Given the description of an element on the screen output the (x, y) to click on. 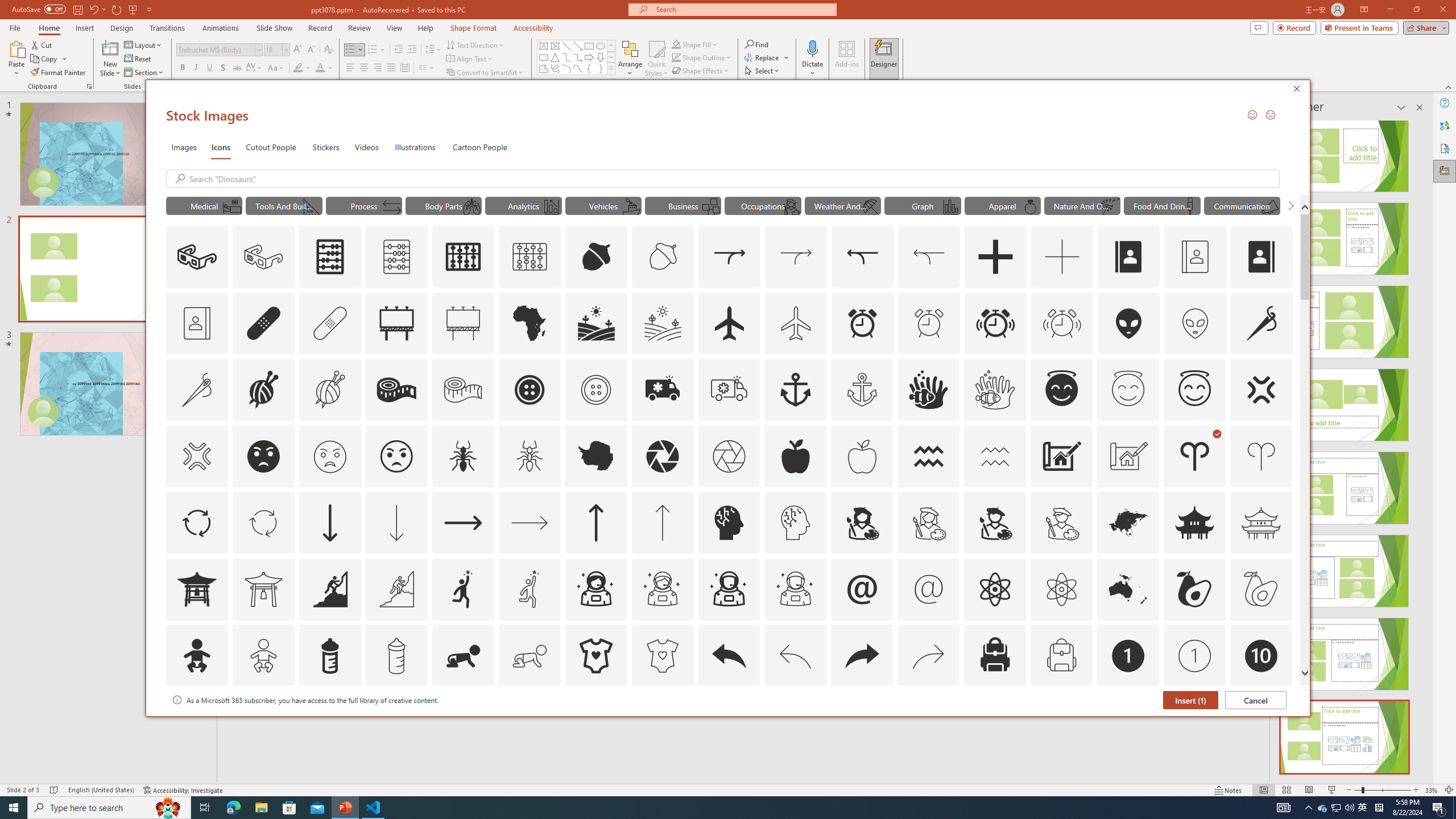
AutomationID: Icons_Avocado (1194, 588)
AutomationID: Icons_Avocado_M (1260, 588)
AutomationID: Icons_Anchor (795, 389)
AutomationID: Icons_Atom_M (1061, 588)
Videos (366, 146)
